Given the description of an element on the screen output the (x, y) to click on. 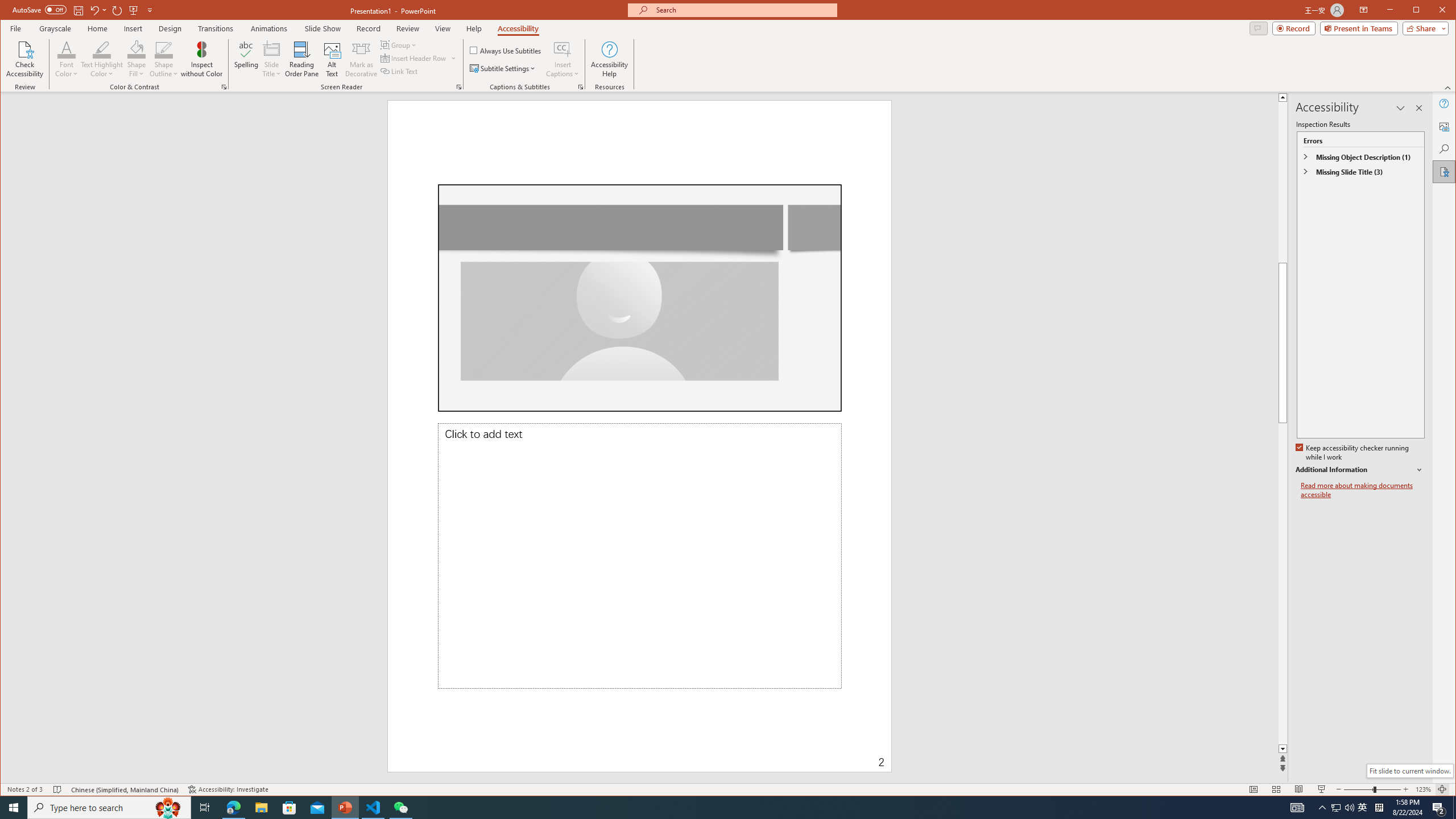
Additional Information (1360, 469)
Mark as Decorative (360, 59)
Insert Captions (562, 48)
Slide Title (271, 48)
WeChat - 1 running window (400, 807)
